Given the description of an element on the screen output the (x, y) to click on. 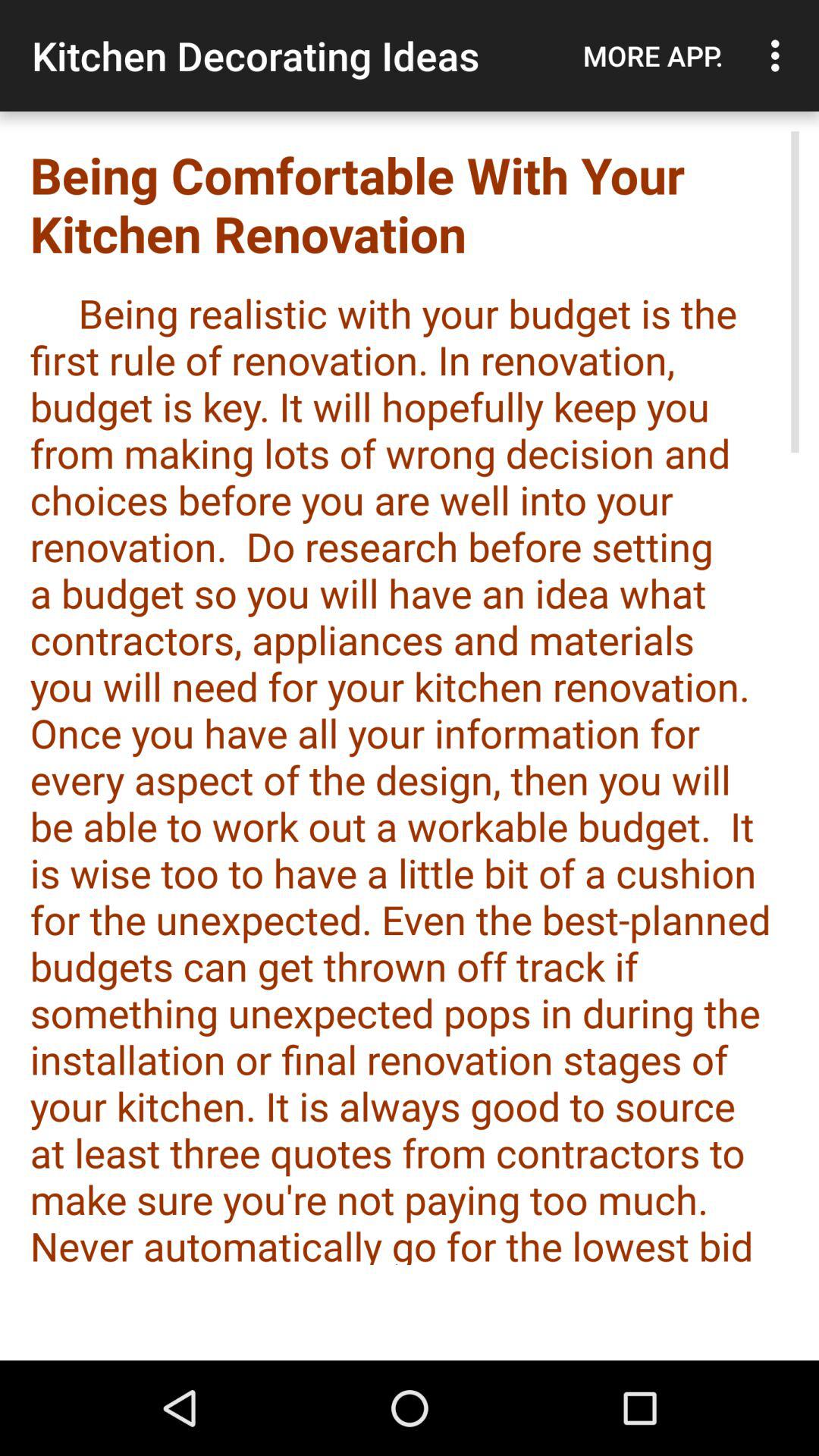
select the icon next to kitchen decorating ideas app (653, 55)
